Given the description of an element on the screen output the (x, y) to click on. 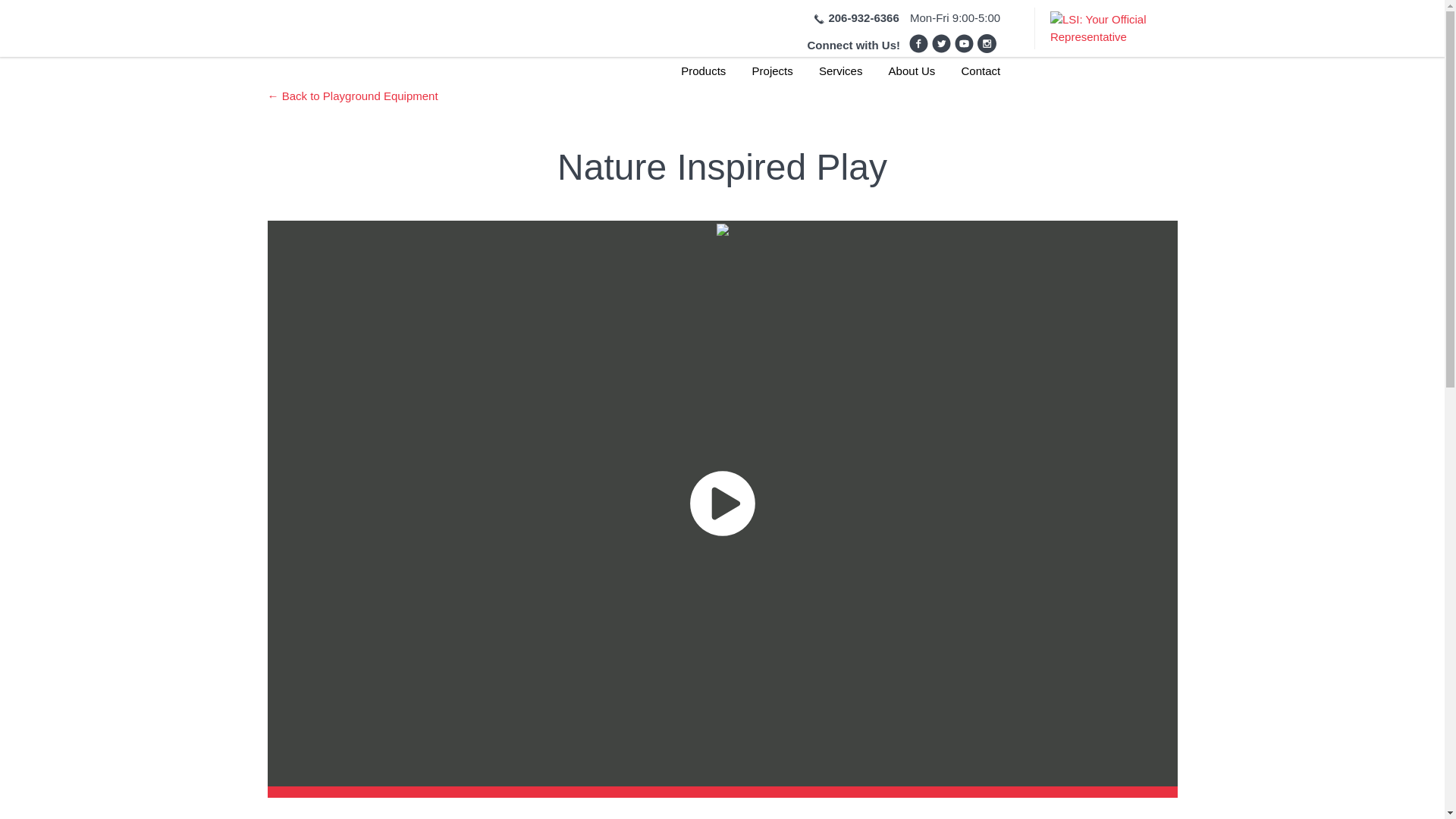
Projects (772, 77)
Services (840, 77)
Contact (980, 77)
About Us (912, 77)
Products (703, 77)
LSI: Your Official Representative (1098, 28)
